Given the description of an element on the screen output the (x, y) to click on. 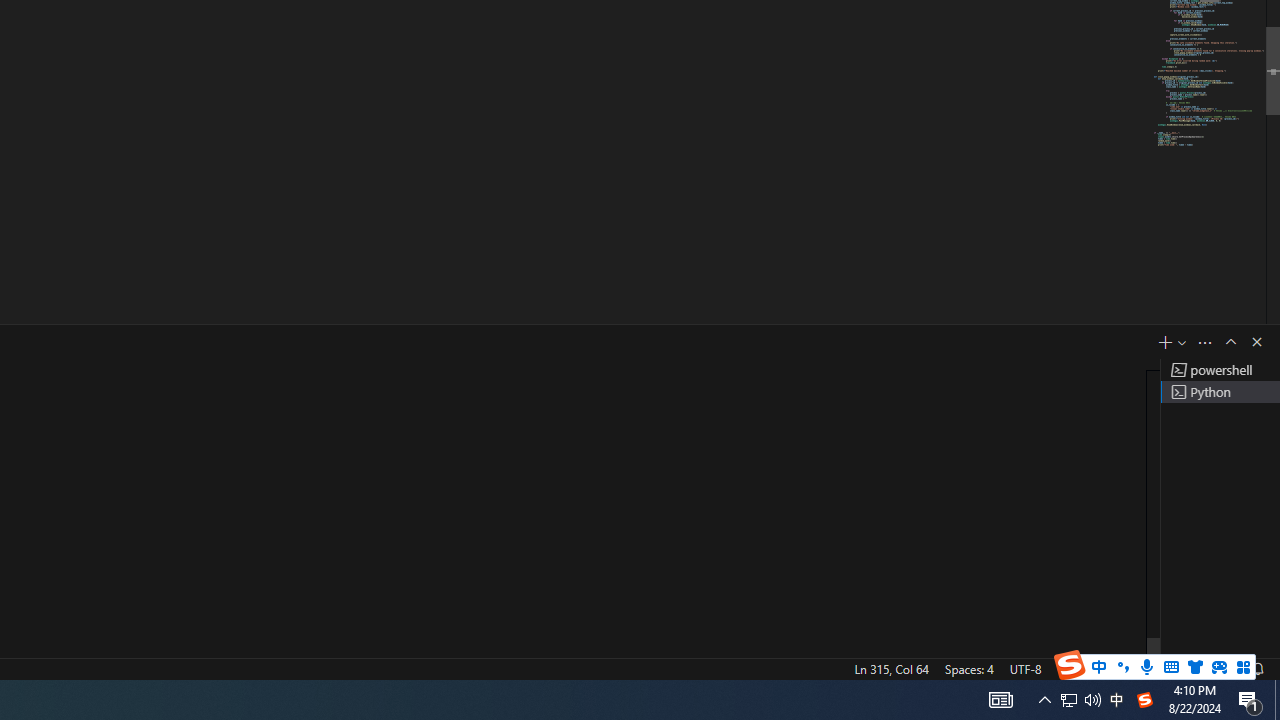
Class: NetUIImage (1116, 169)
List Paragraph (1130, 169)
Intense Quote (1130, 54)
Quote (1130, 25)
